Given the description of an element on the screen output the (x, y) to click on. 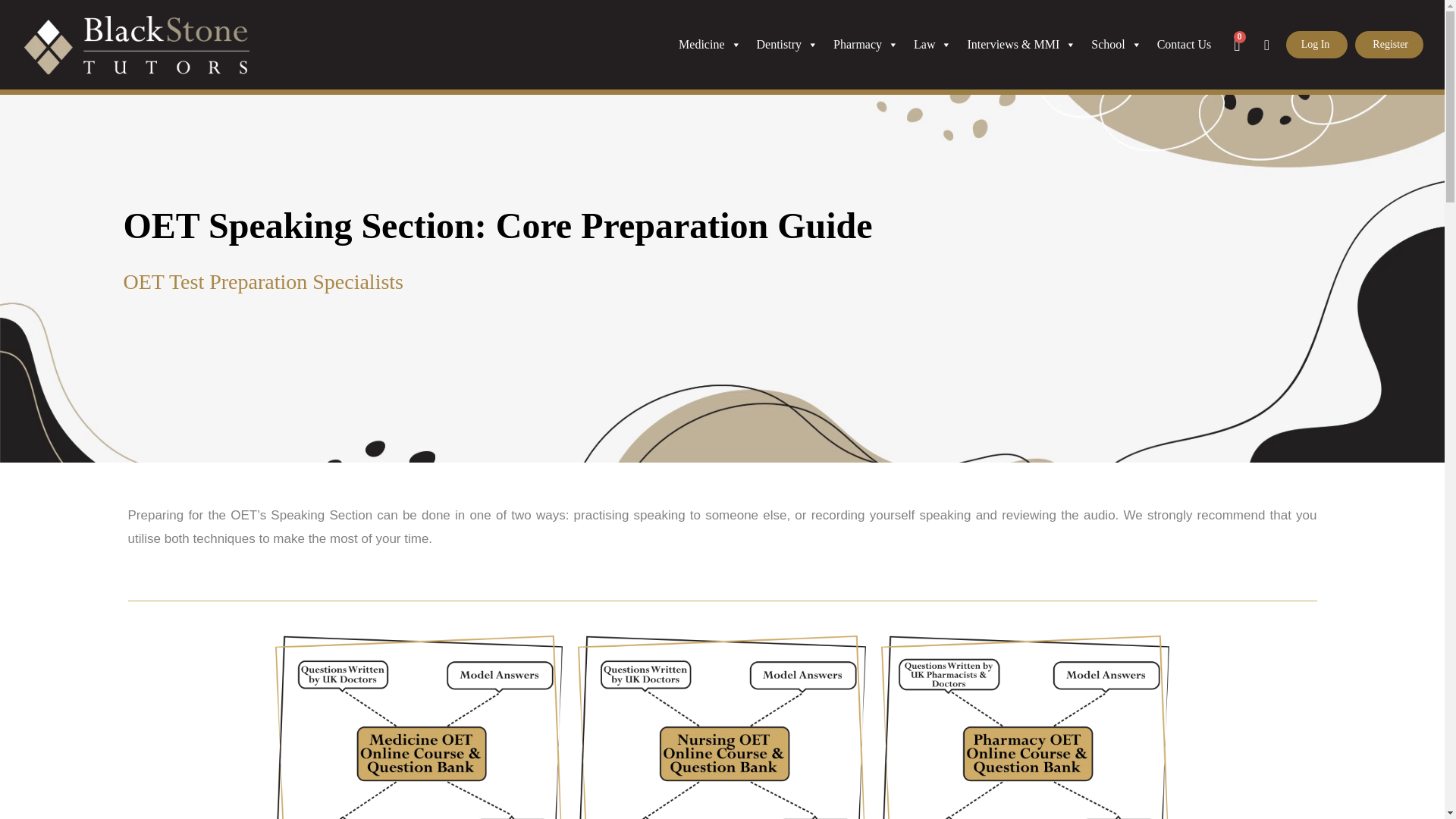
Medicine (709, 44)
